Given the description of an element on the screen output the (x, y) to click on. 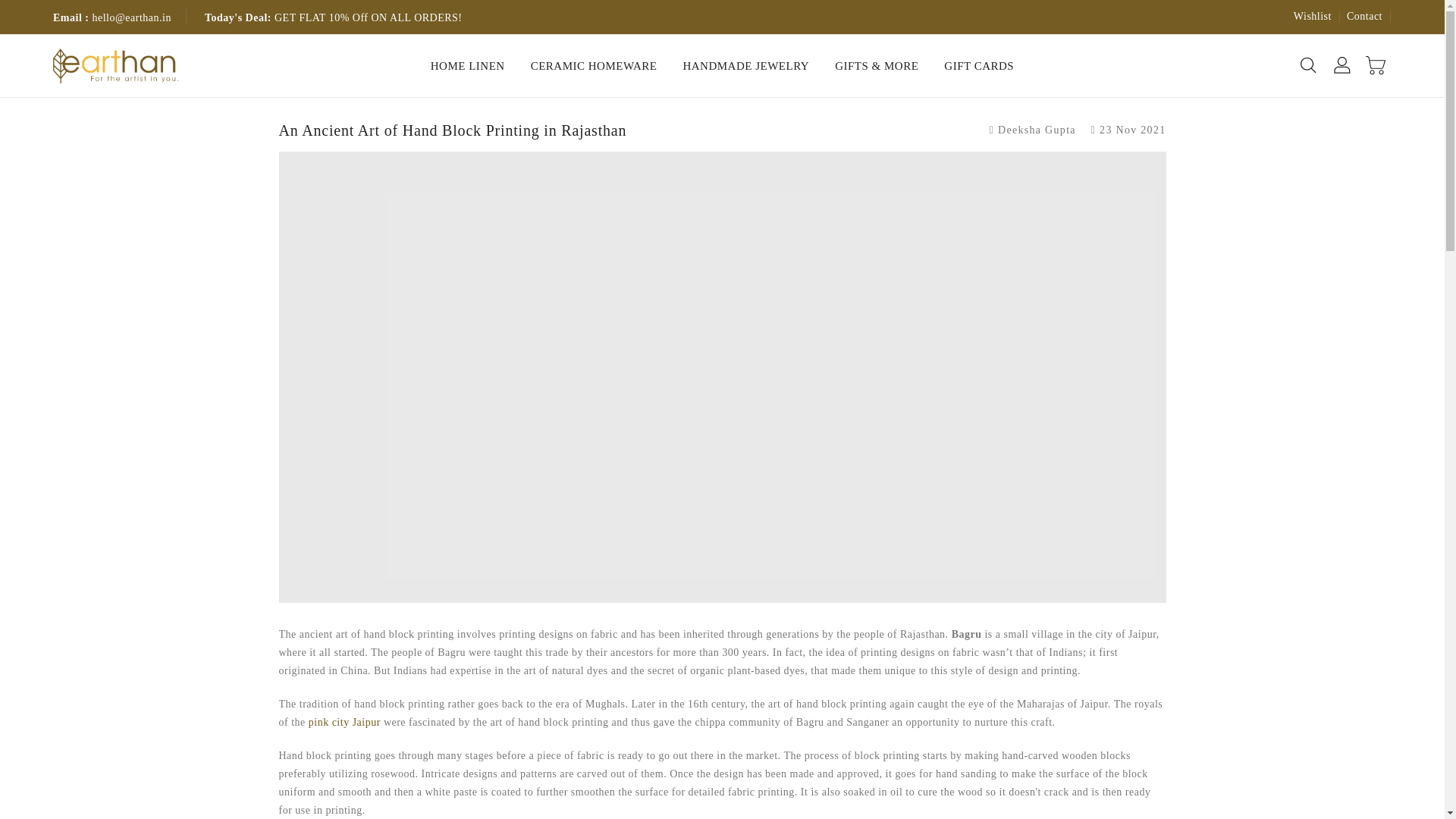
CERAMIC HOMEWARE (593, 66)
Wishlist (1313, 16)
Contact (1363, 16)
SKIP TO CONTENT (18, 8)
HOME LINEN (467, 66)
